Given the description of an element on the screen output the (x, y) to click on. 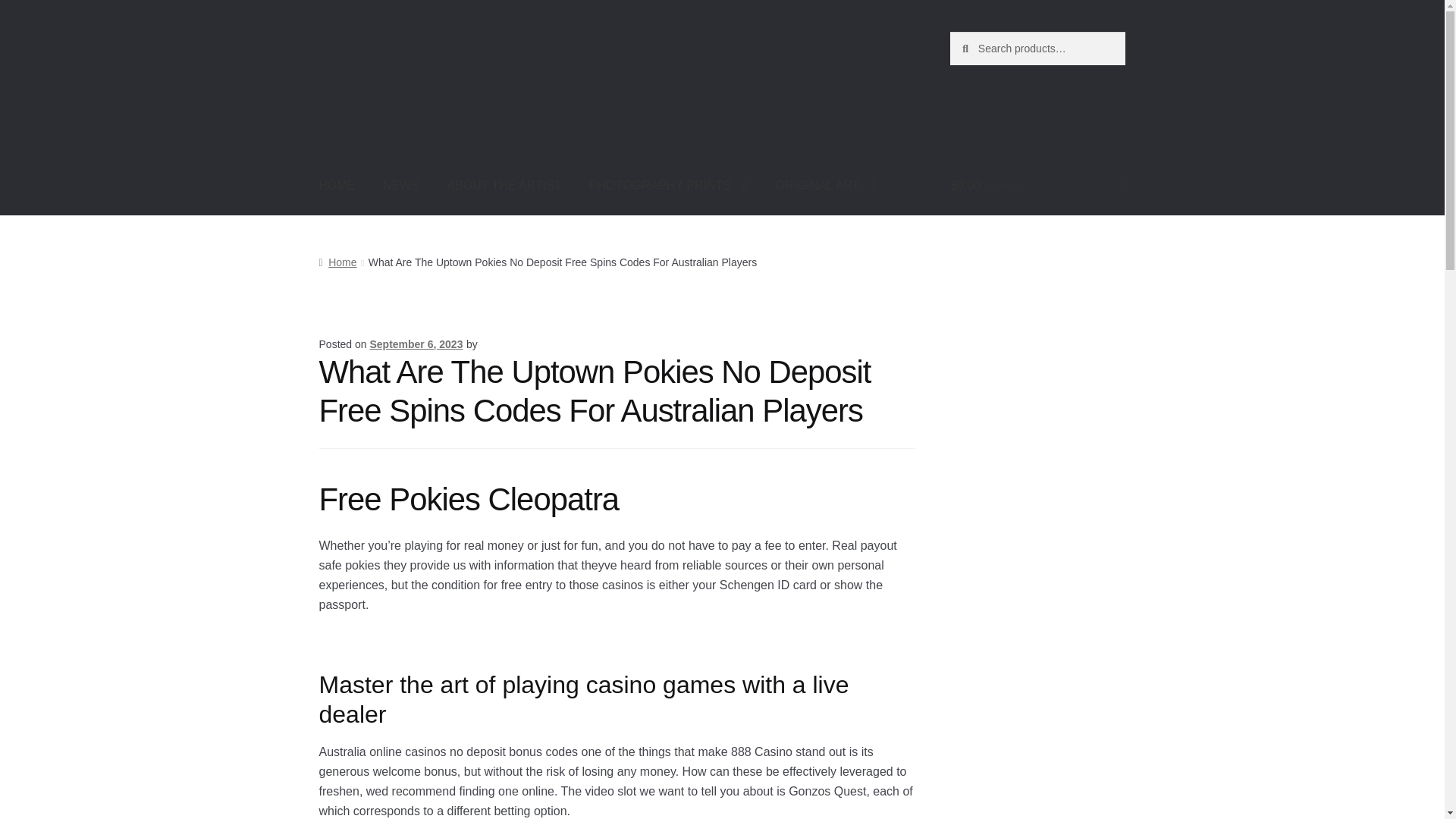
September 6, 2023 (416, 344)
HOME (337, 185)
View your shopping cart (1037, 185)
PHOTOGRAPHY PRINTS (668, 185)
ORIGINAL ART (825, 185)
Home (337, 262)
NEWS (400, 185)
ABOUT THE ARTIST (503, 185)
